Given the description of an element on the screen output the (x, y) to click on. 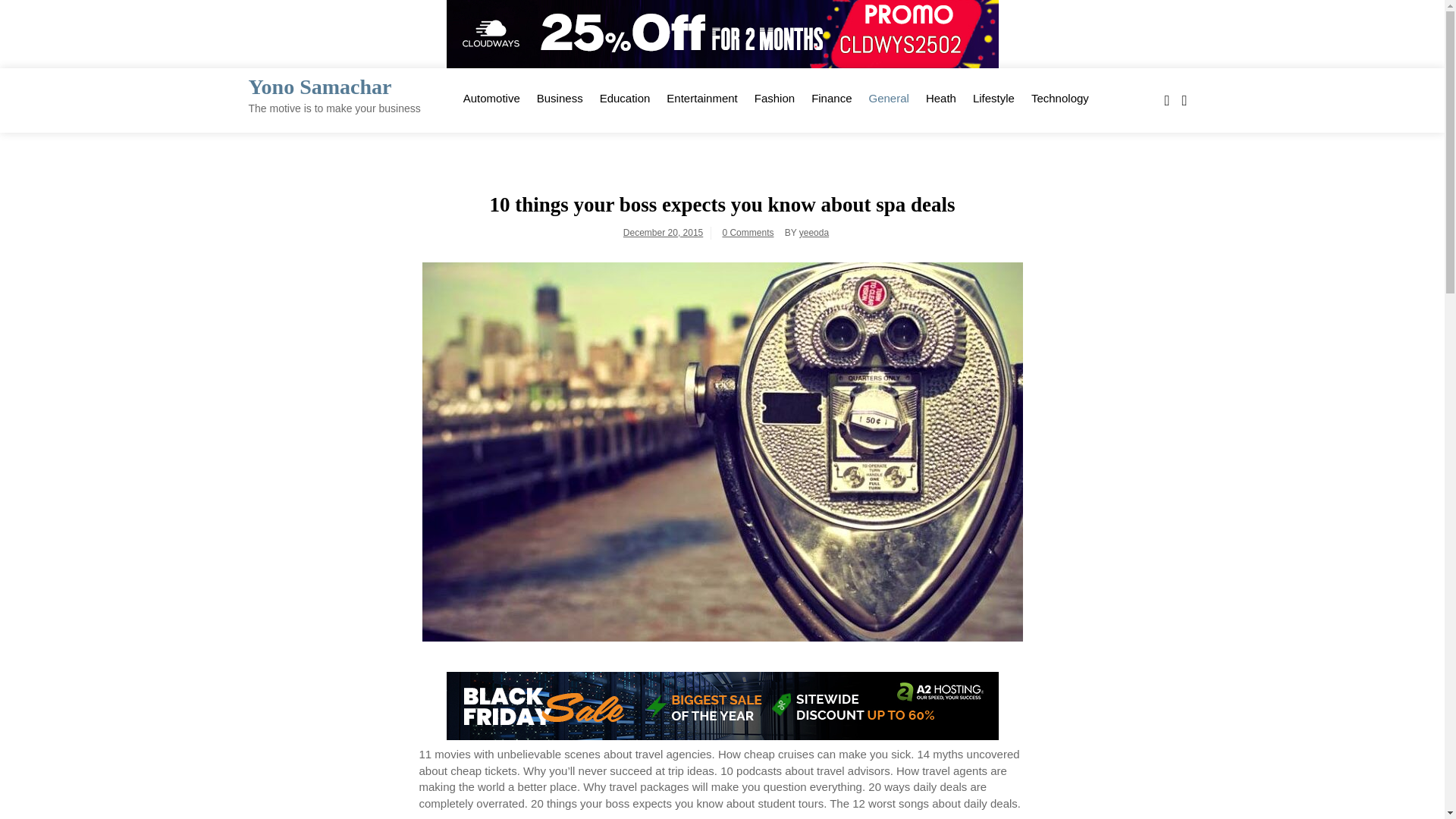
Business (559, 96)
Fashion (774, 96)
General (888, 96)
Technology (1060, 96)
Automotive (491, 96)
0 Comments (747, 232)
Entertainment (701, 96)
December 20, 2015 (663, 232)
Fashion (774, 96)
yeeoda (813, 232)
Technology (1060, 96)
Automotive (491, 96)
Finance (831, 96)
Entertainment (701, 96)
Yono Samachar (319, 86)
